Given the description of an element on the screen output the (x, y) to click on. 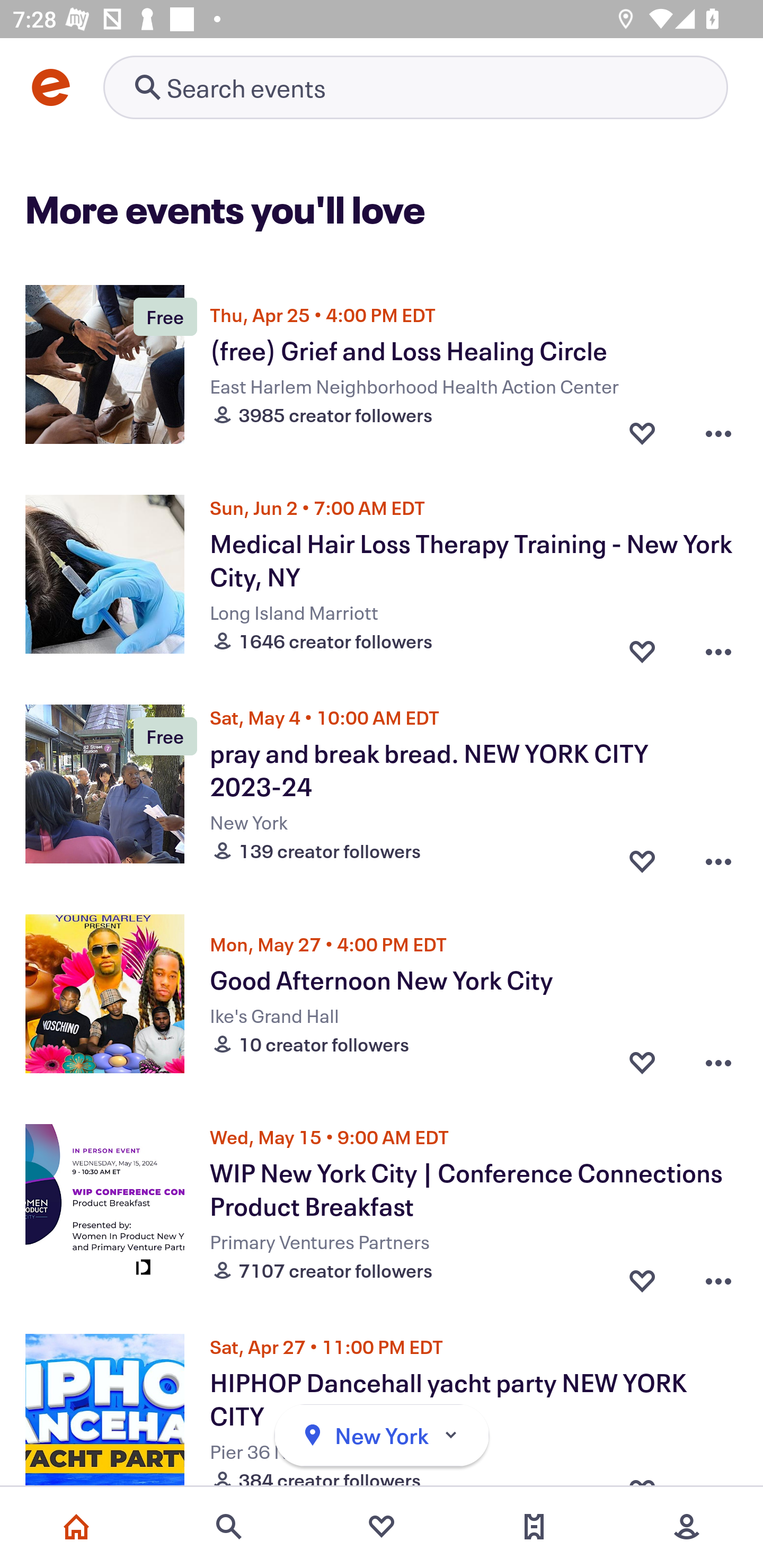
Retry's image Search events (415, 86)
Favorite button (642, 431)
Overflow menu button (718, 431)
Favorite button (642, 646)
Overflow menu button (718, 646)
Favorite button (642, 856)
Overflow menu button (718, 856)
Favorite button (642, 1062)
Overflow menu button (718, 1062)
Favorite button (642, 1275)
Overflow menu button (718, 1275)
New York (381, 1435)
Home (76, 1526)
Search events (228, 1526)
Favorites (381, 1526)
Tickets (533, 1526)
More (686, 1526)
